Given the description of an element on the screen output the (x, y) to click on. 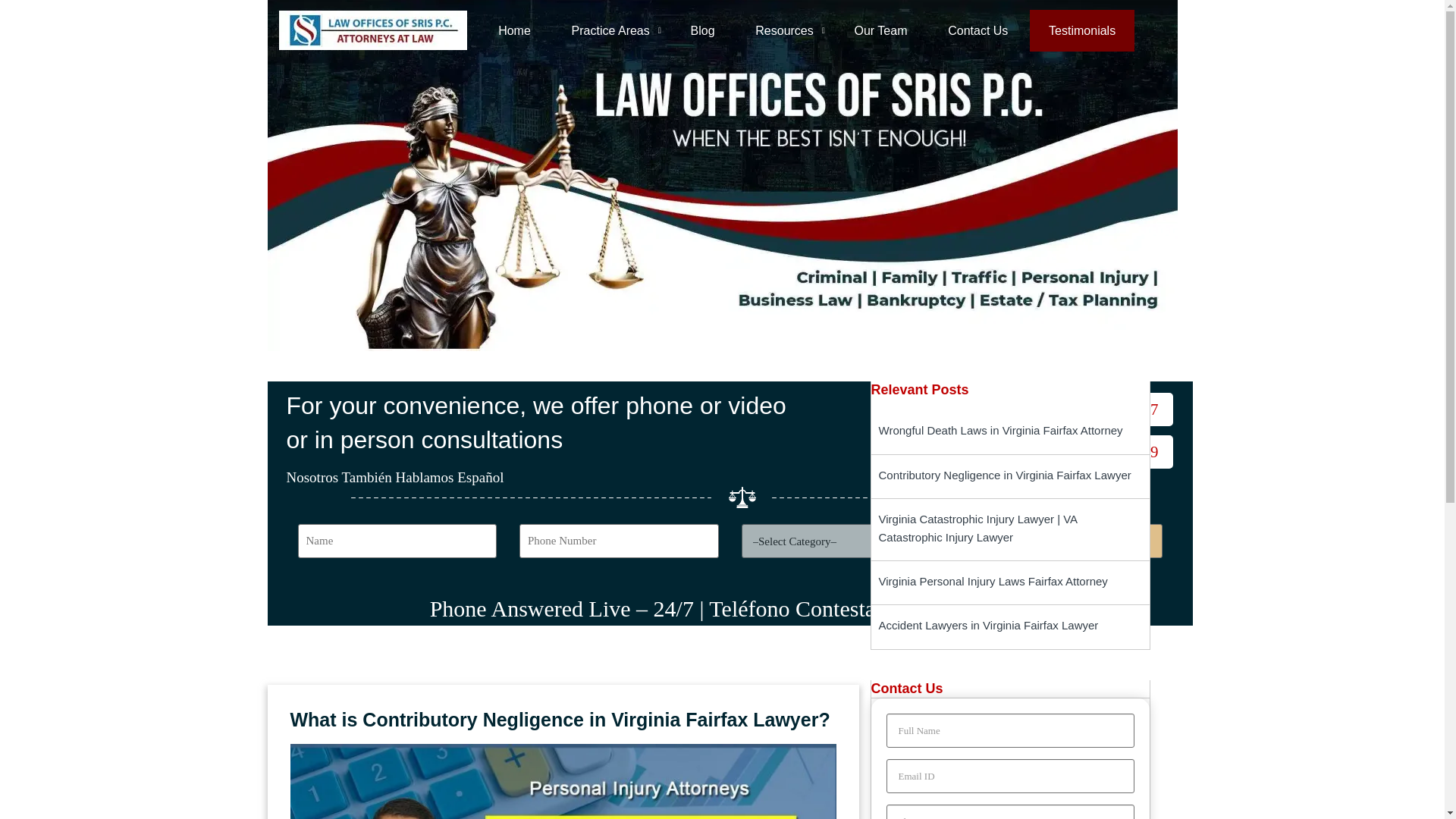
Our Team (880, 29)
Practice Areas (610, 29)
Find a lawyer (1061, 540)
Resources (783, 29)
Contact Us (977, 29)
Home (523, 29)
Blog (702, 29)
Find a lawyer (1061, 540)
1 800 5190549 (1091, 451)
888-437-7747 (1093, 409)
Testimonials (1081, 29)
